Given the description of an element on the screen output the (x, y) to click on. 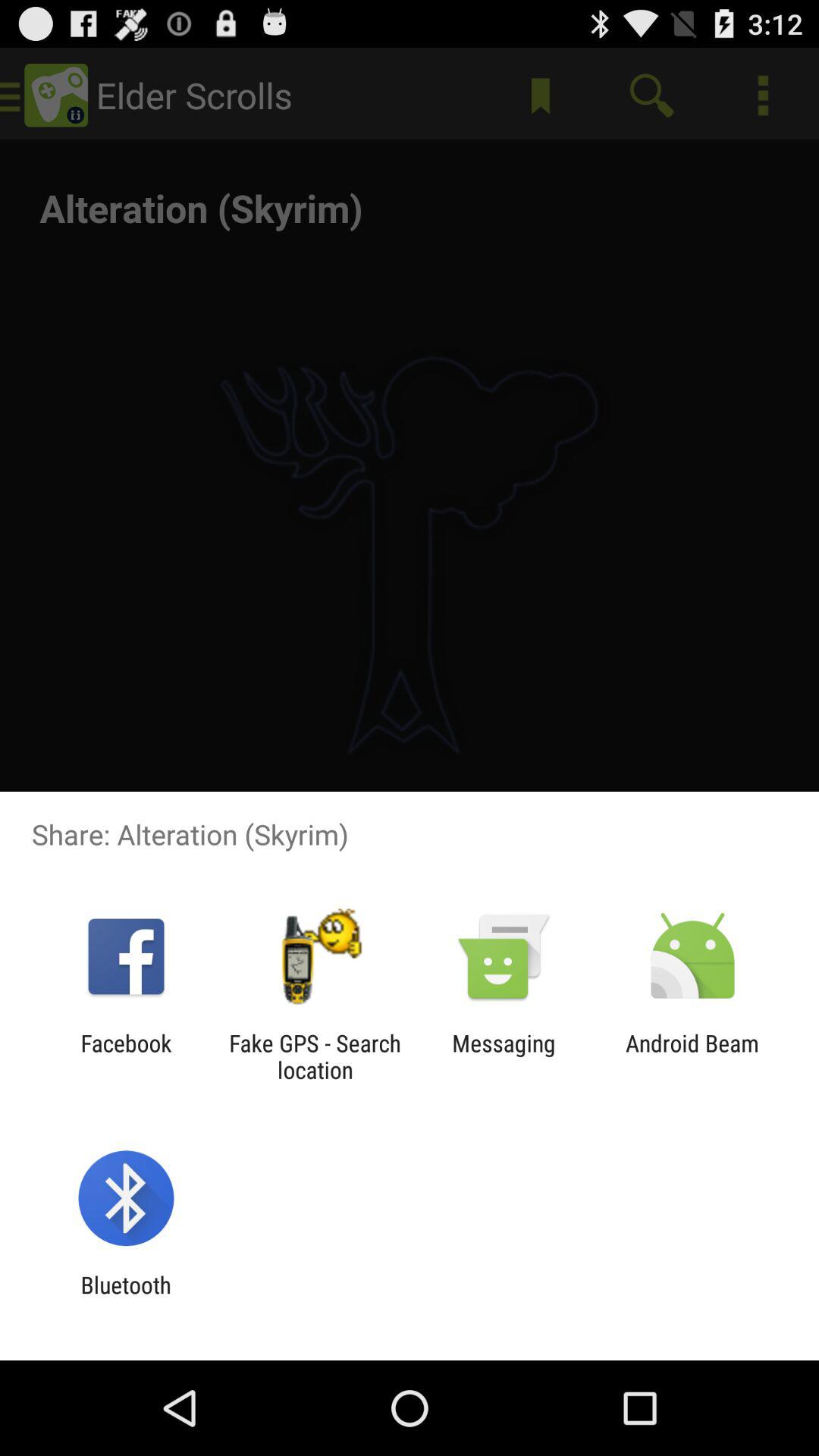
jump until the messaging app (503, 1056)
